Given the description of an element on the screen output the (x, y) to click on. 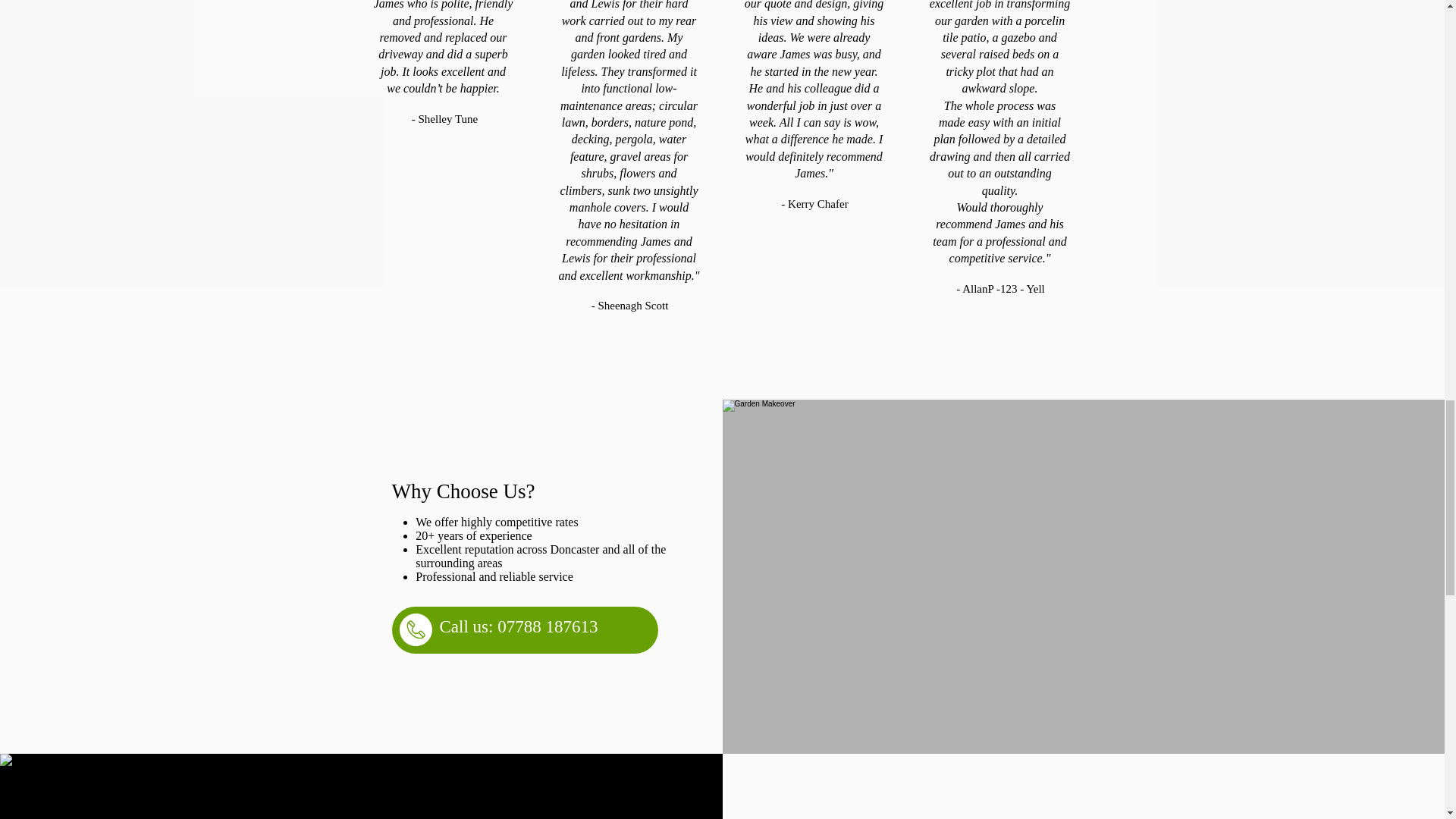
Call us: 07788 187613 (518, 626)
